Given the description of an element on the screen output the (x, y) to click on. 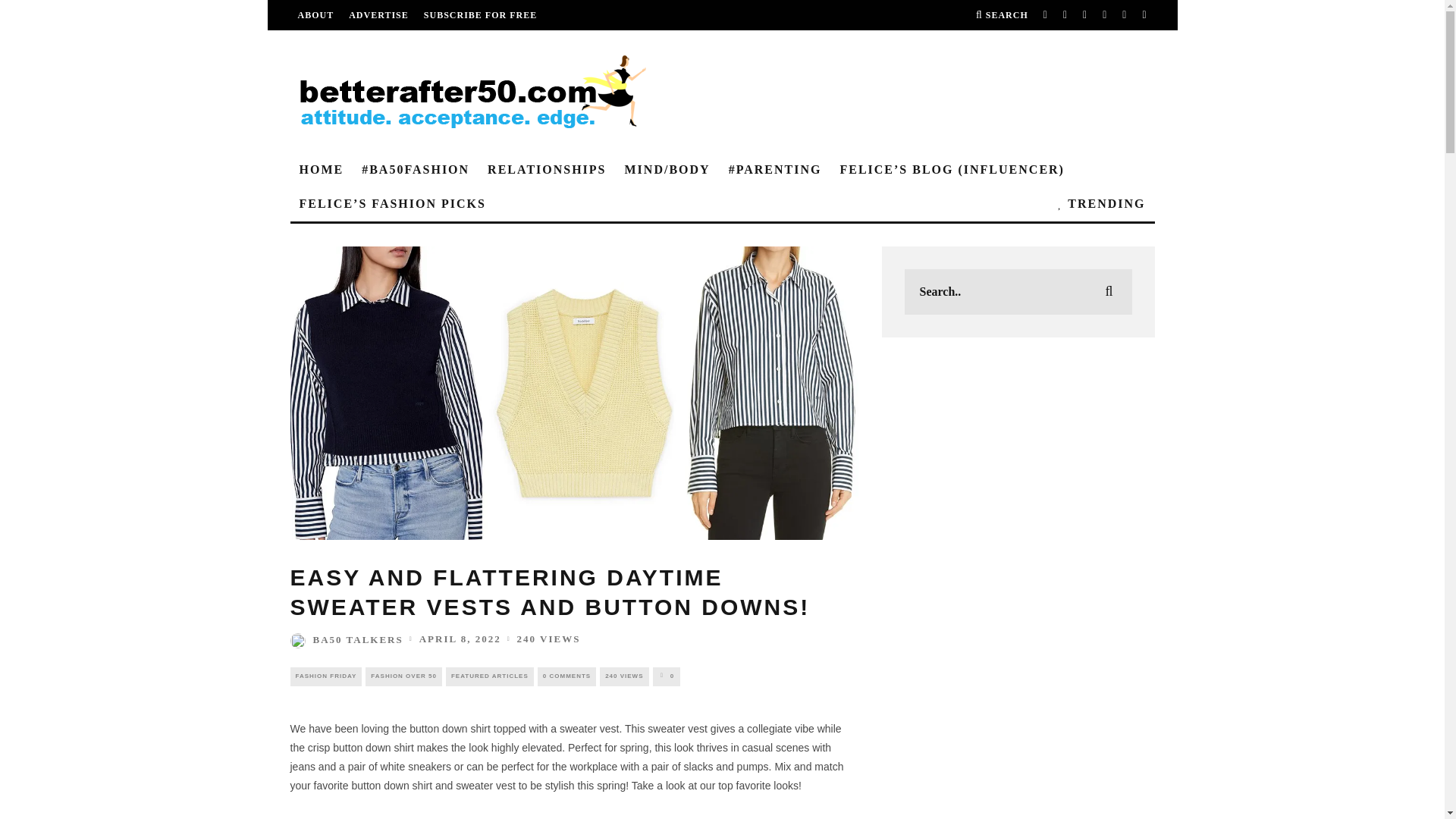
ADVERTISE (379, 15)
View all posts in fashion friday (325, 676)
View all posts in Featured Articles (489, 676)
RELATIONSHIPS (546, 170)
SUBSCRIBE FOR FREE (480, 15)
View all posts in Fashion Over 50 (403, 676)
ABOUT (315, 15)
HOME (320, 170)
SEARCH (1001, 15)
Search (1001, 15)
